Given the description of an element on the screen output the (x, y) to click on. 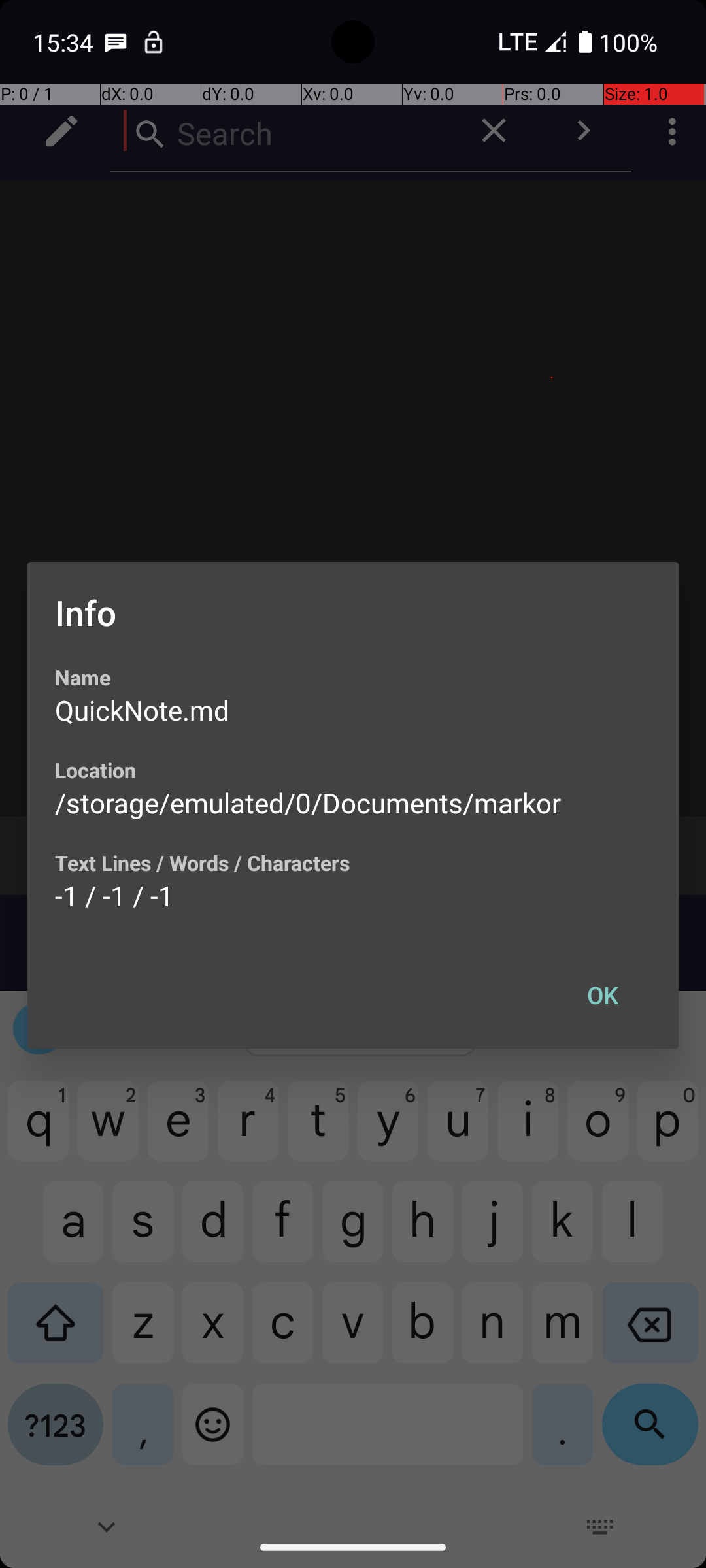
Info Element type: android.widget.TextView (85, 612)
QuickNote.md Element type: android.widget.TextView (141, 709)
/storage/emulated/0/Documents/markor Element type: android.widget.TextView (307, 802)
Text Lines / Words / Characters Element type: android.widget.TextView (202, 862)
-1 / -1 / -1 Element type: android.widget.TextView (113, 895)
